Given the description of an element on the screen output the (x, y) to click on. 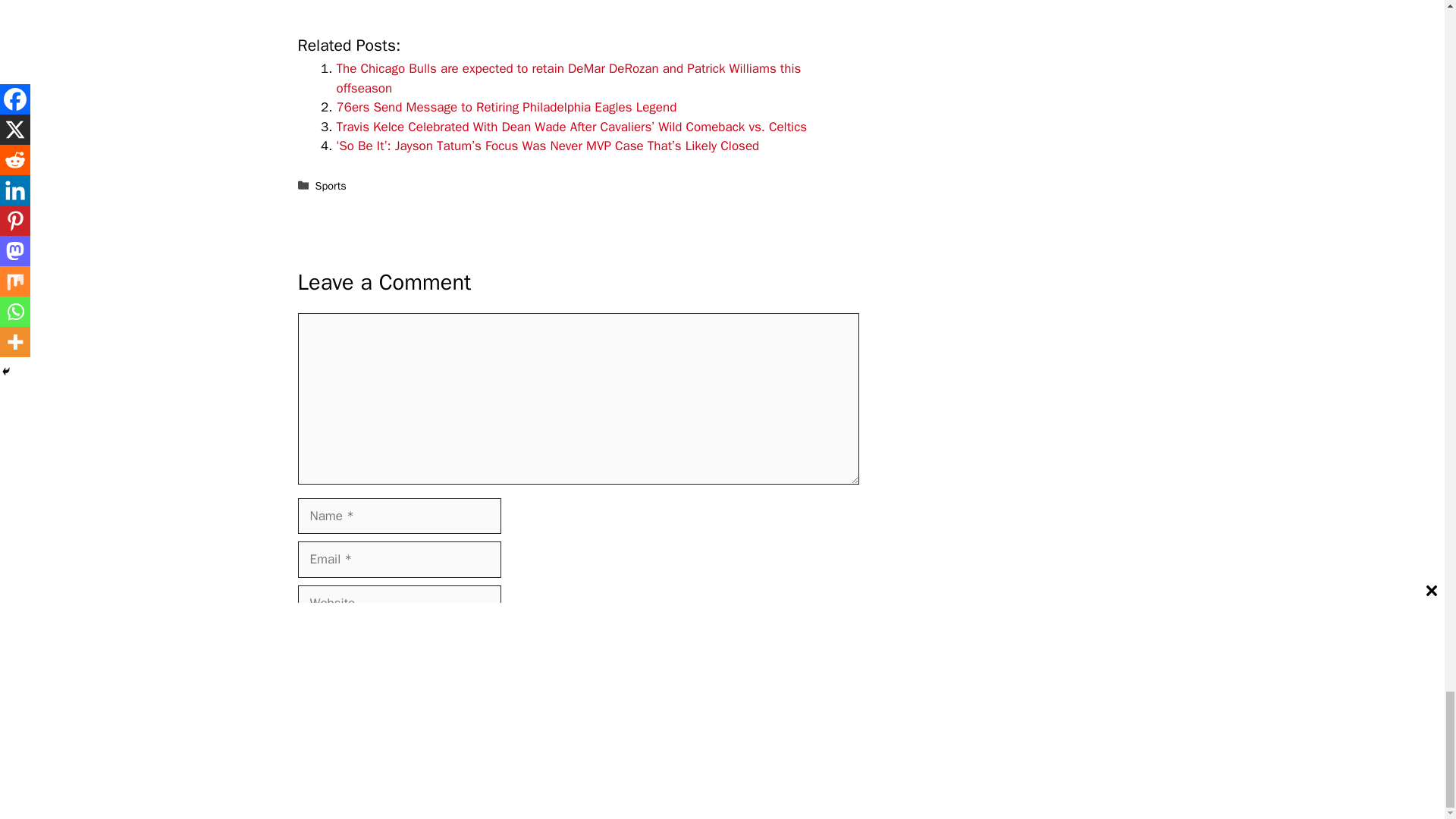
yes (302, 637)
Post Comment (349, 684)
Sports (330, 185)
76ers Send Message to Retiring Philadelphia Eagles Legend (506, 107)
